Given the description of an element on the screen output the (x, y) to click on. 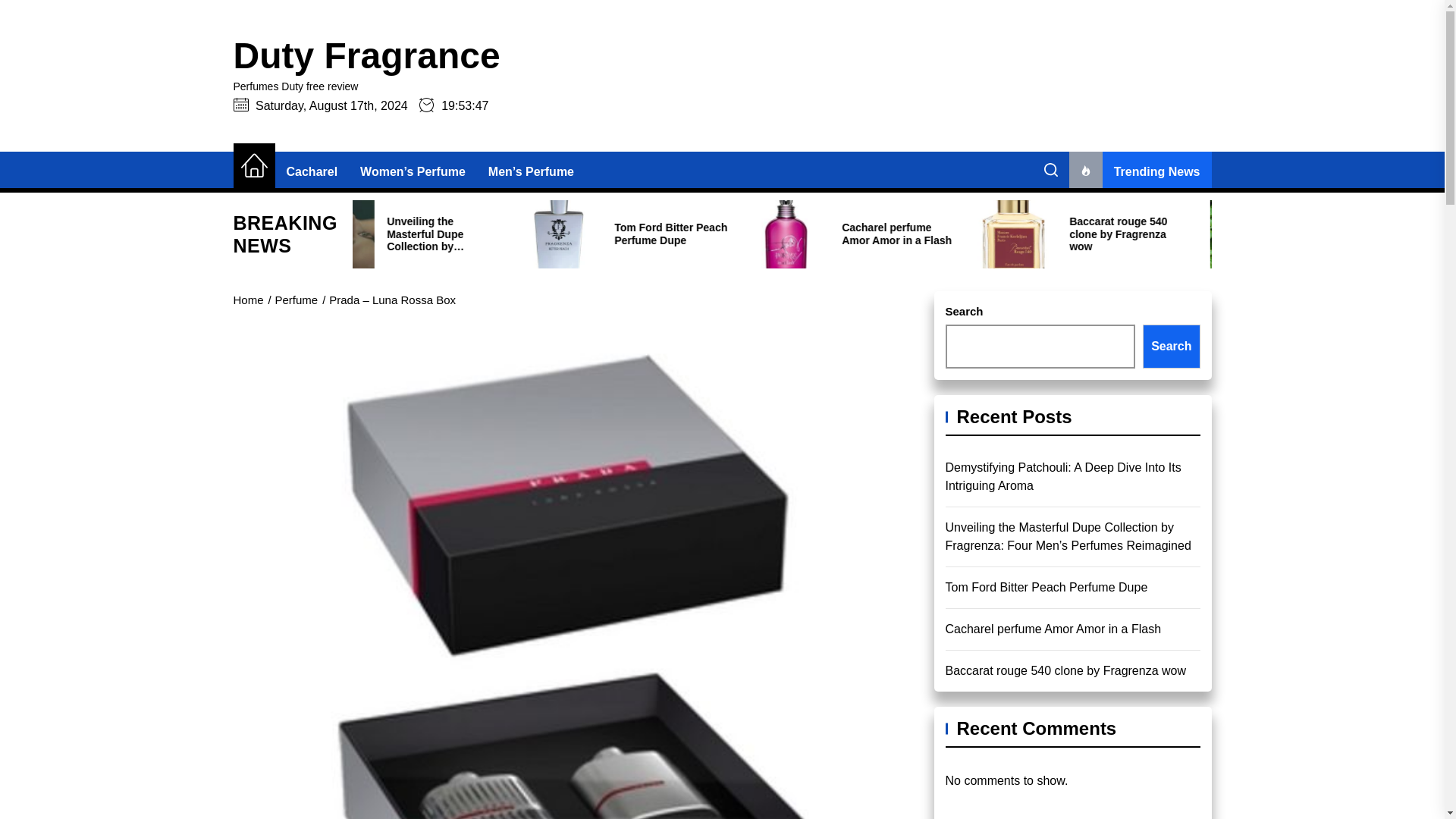
Cacharel (312, 171)
Tom Ford Bitter Peach Perfume Dupe (804, 233)
Duty Fragrance (366, 55)
Trending News (1139, 171)
